Given the description of an element on the screen output the (x, y) to click on. 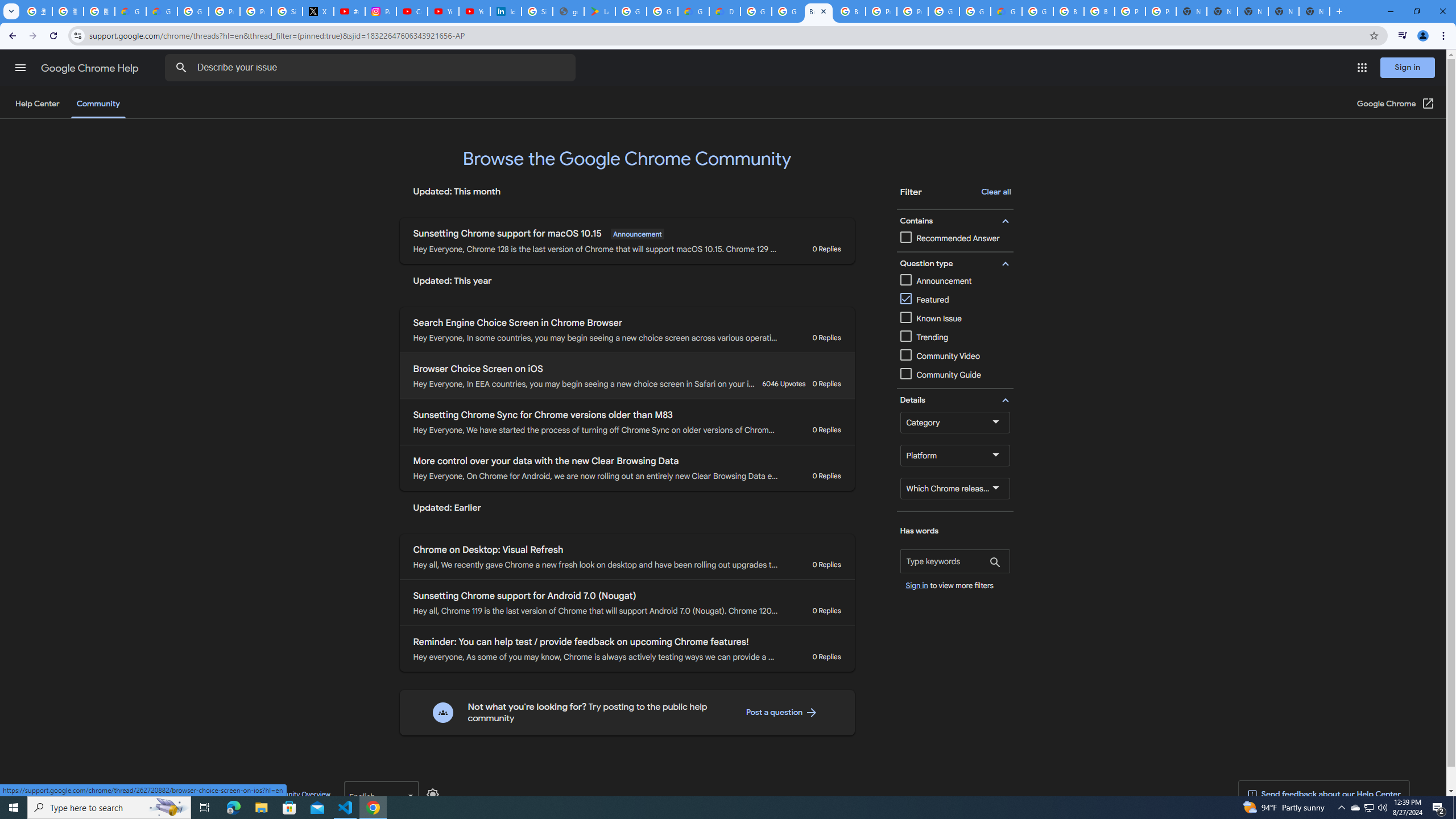
#nbabasketballhighlights - YouTube (349, 11)
google_privacy_policy_en.pdf (568, 11)
Category (954, 422)
Google Cloud Platform (943, 11)
New Tab (1314, 11)
Announcement (954, 281)
Community (97, 103)
Community Policy (229, 794)
Main menu (20, 67)
Google Cloud Platform (756, 11)
